Given the description of an element on the screen output the (x, y) to click on. 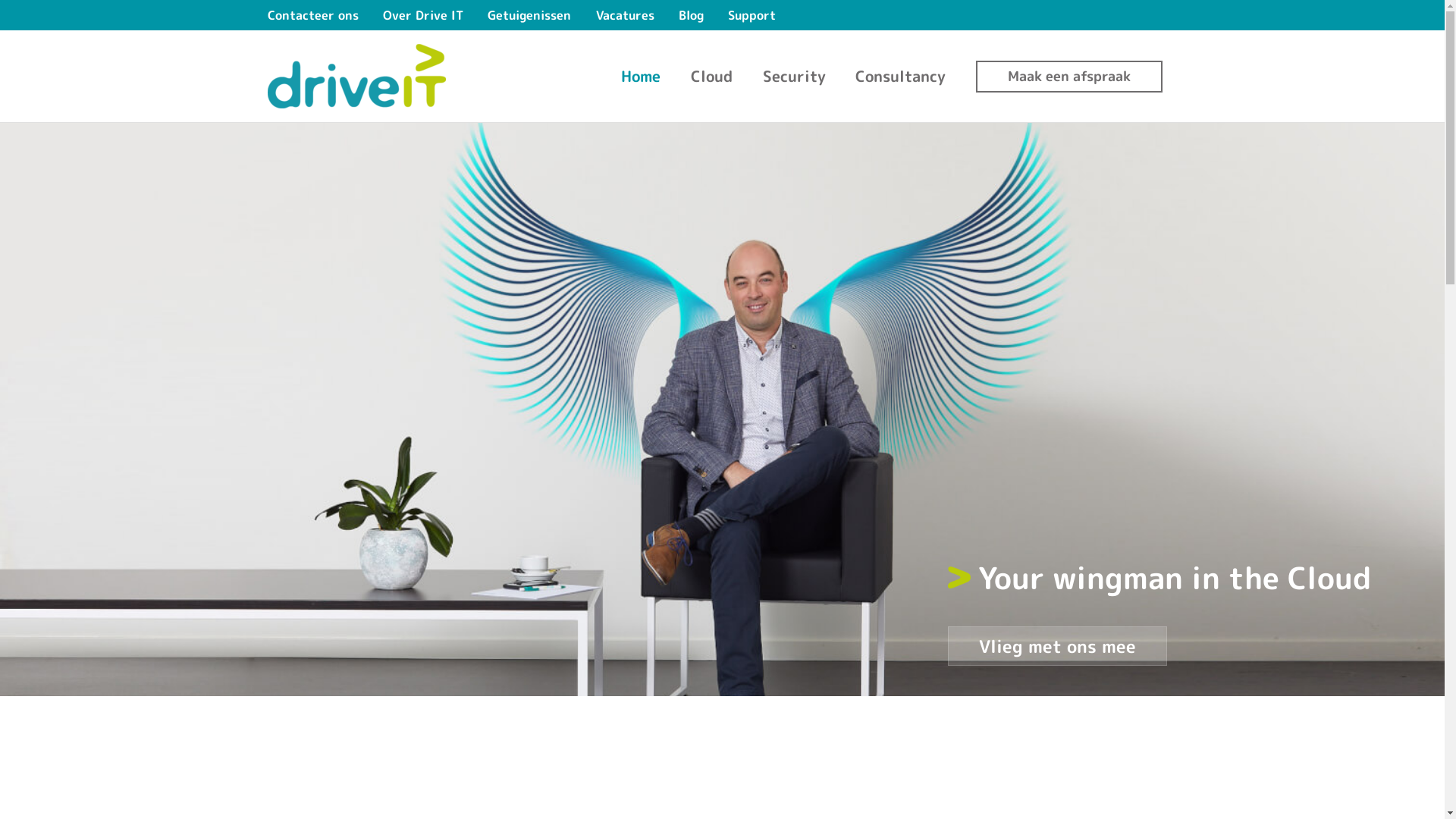
Security Element type: text (793, 76)
Vlieg met ons mee Element type: text (1057, 645)
Contacteer ons Element type: text (318, 15)
Cloud Element type: text (711, 76)
Support Element type: text (751, 15)
Vacatures Element type: text (624, 15)
Consultancy Element type: text (900, 76)
Over Drive IT Element type: text (422, 15)
Home Element type: text (641, 76)
Maak een afspraak Element type: text (1068, 76)
check-v Element type: hover (958, 577)
Getuigenissen Element type: text (529, 15)
Blog Element type: text (690, 15)
